Given the description of an element on the screen output the (x, y) to click on. 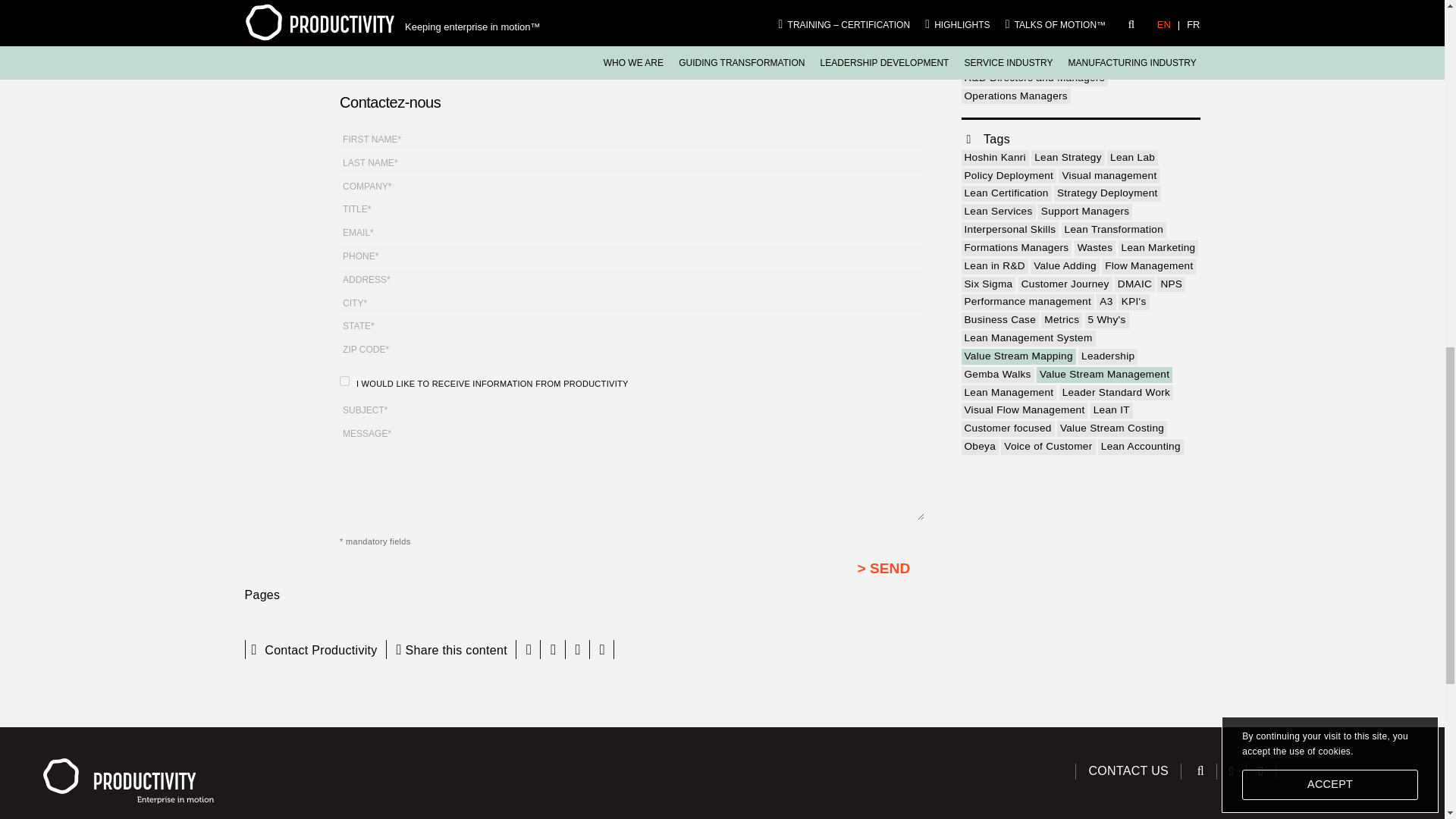
Back to page top (1396, 26)
I would like to receive information from Productivity (344, 380)
